Given the description of an element on the screen output the (x, y) to click on. 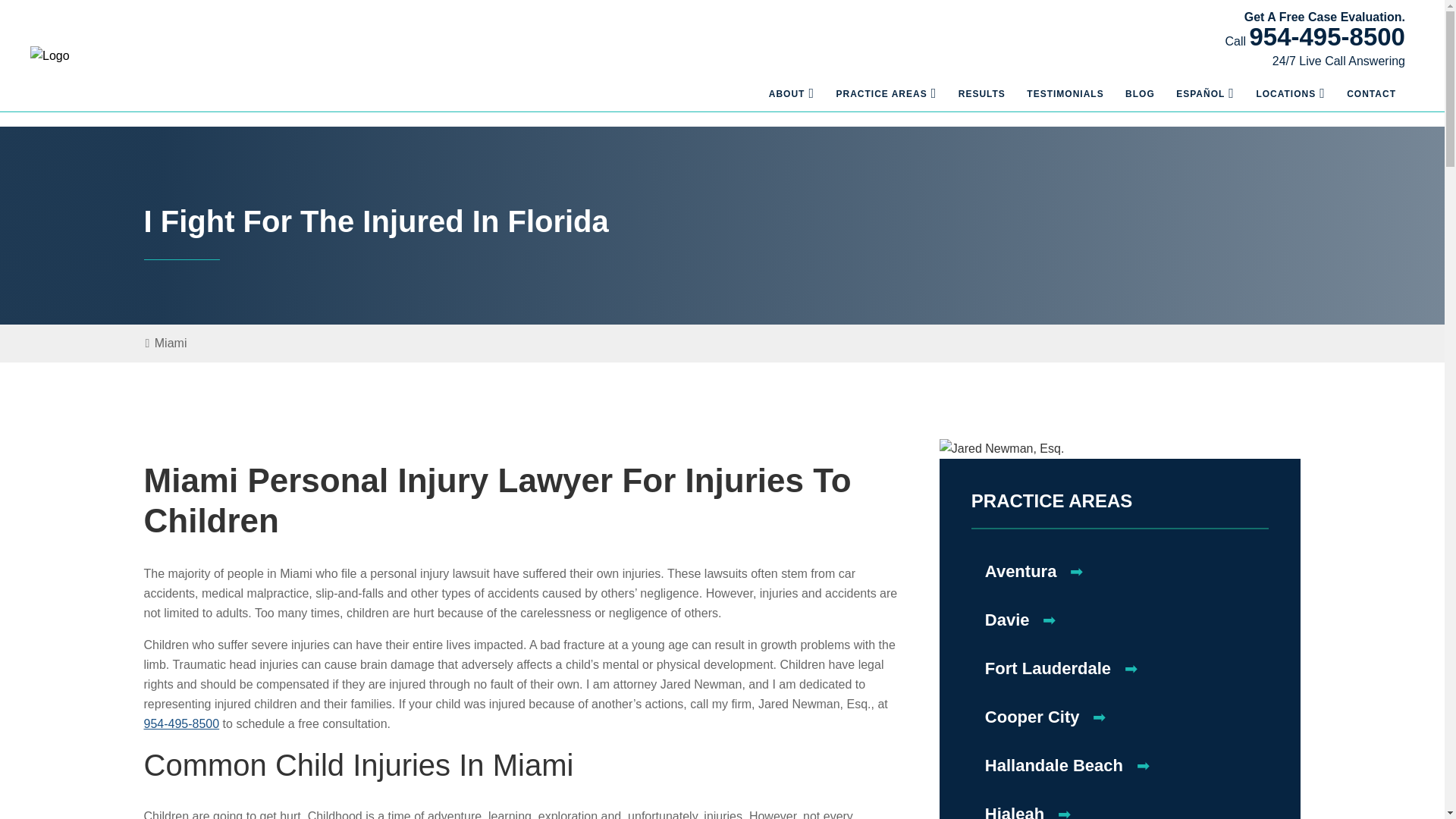
RESULTS (973, 101)
PRACTICE AREAS (873, 101)
TESTIMONIALS (1057, 101)
954-495-8500 (1319, 44)
954-495-8500 (1327, 36)
CONTACT (1364, 101)
LOCATIONS (1277, 101)
BLOG (1132, 101)
ABOUT (779, 101)
